Given the description of an element on the screen output the (x, y) to click on. 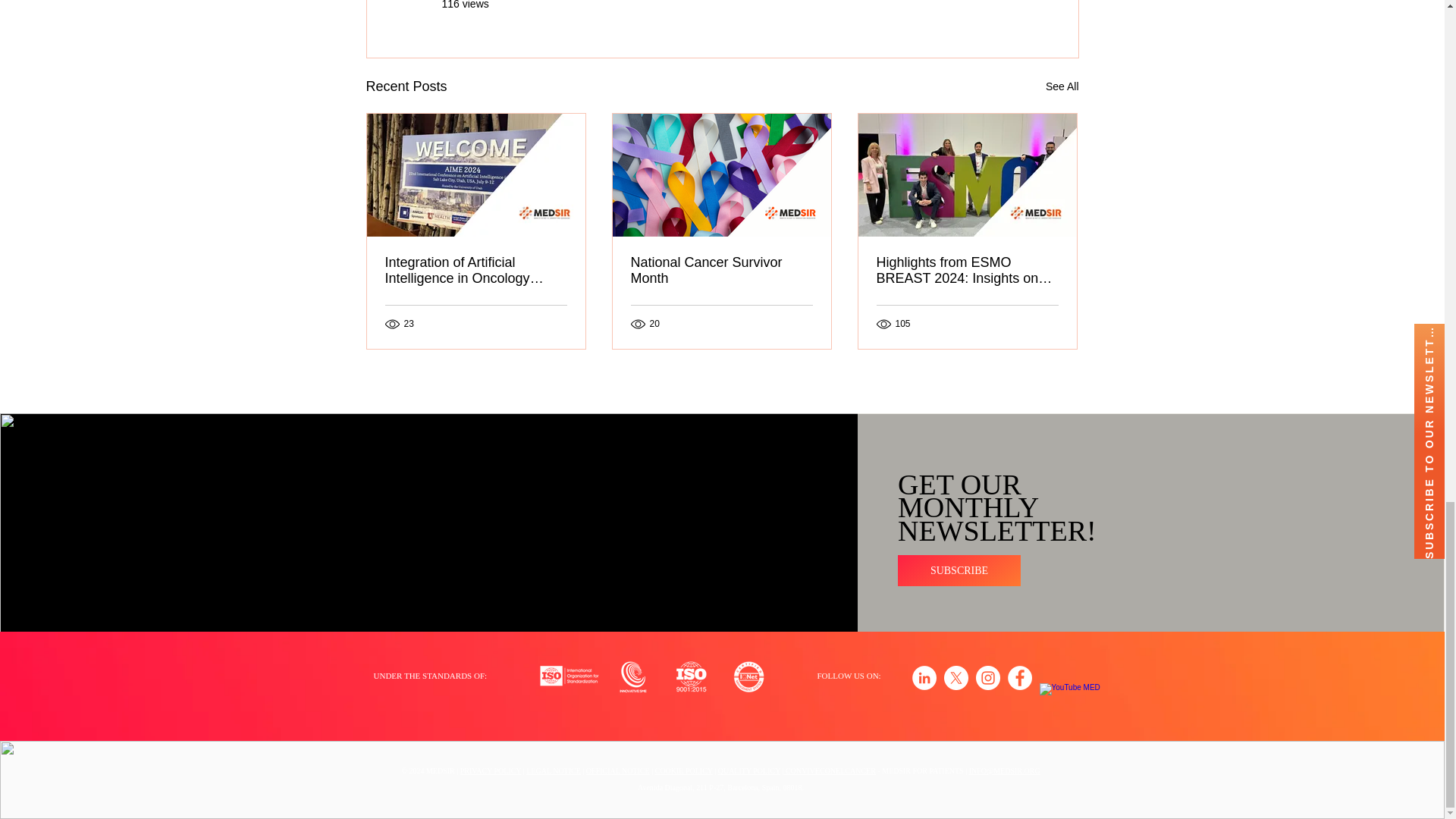
National Cancer Survivor Month (721, 270)
See All (1061, 86)
Integration of Artificial Intelligence in Oncology Research (476, 270)
